Given the description of an element on the screen output the (x, y) to click on. 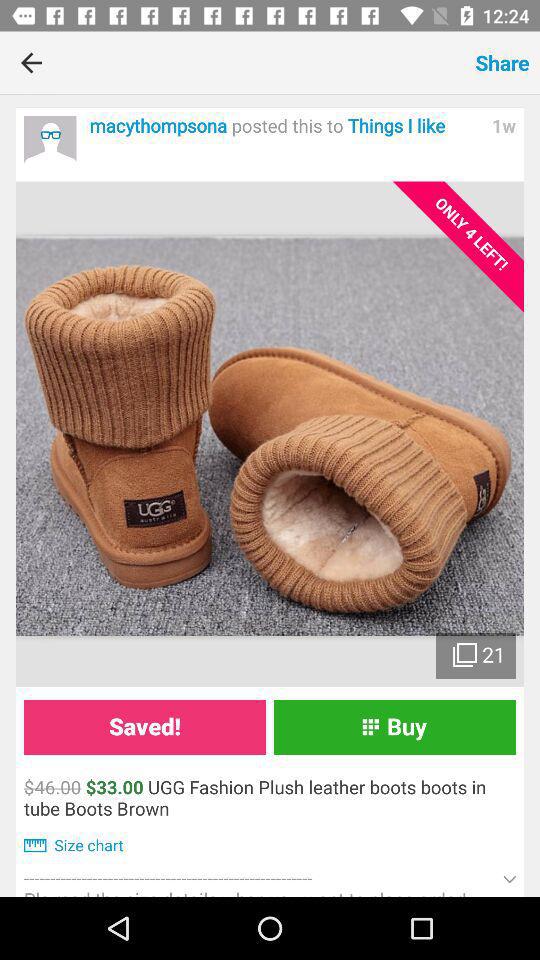
open user profile (50, 141)
